Given the description of an element on the screen output the (x, y) to click on. 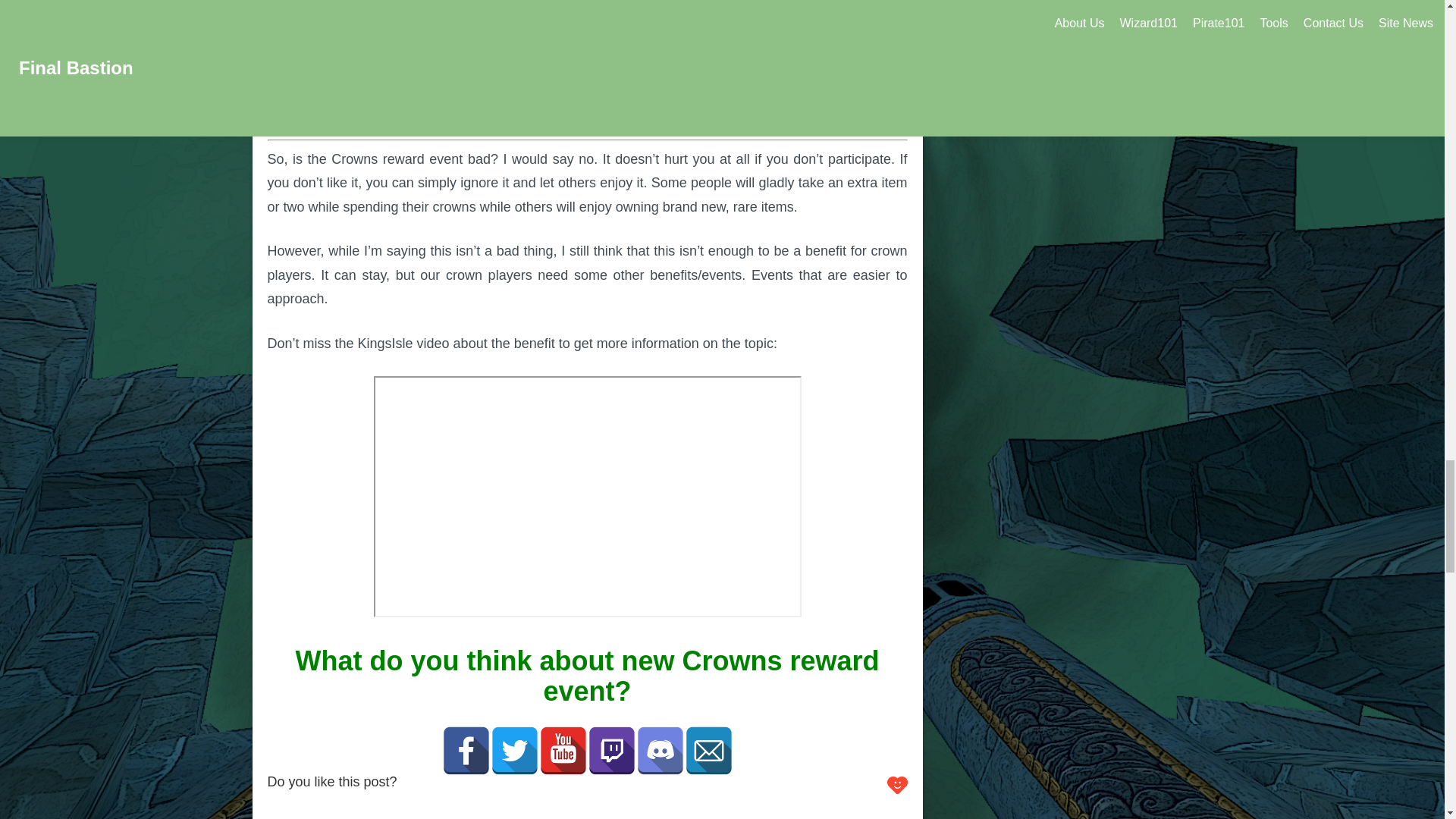
Facebook (465, 750)
Discord (659, 750)
YouTube (562, 750)
Twitch (610, 750)
Email (708, 750)
Twitter (513, 750)
